Given the description of an element on the screen output the (x, y) to click on. 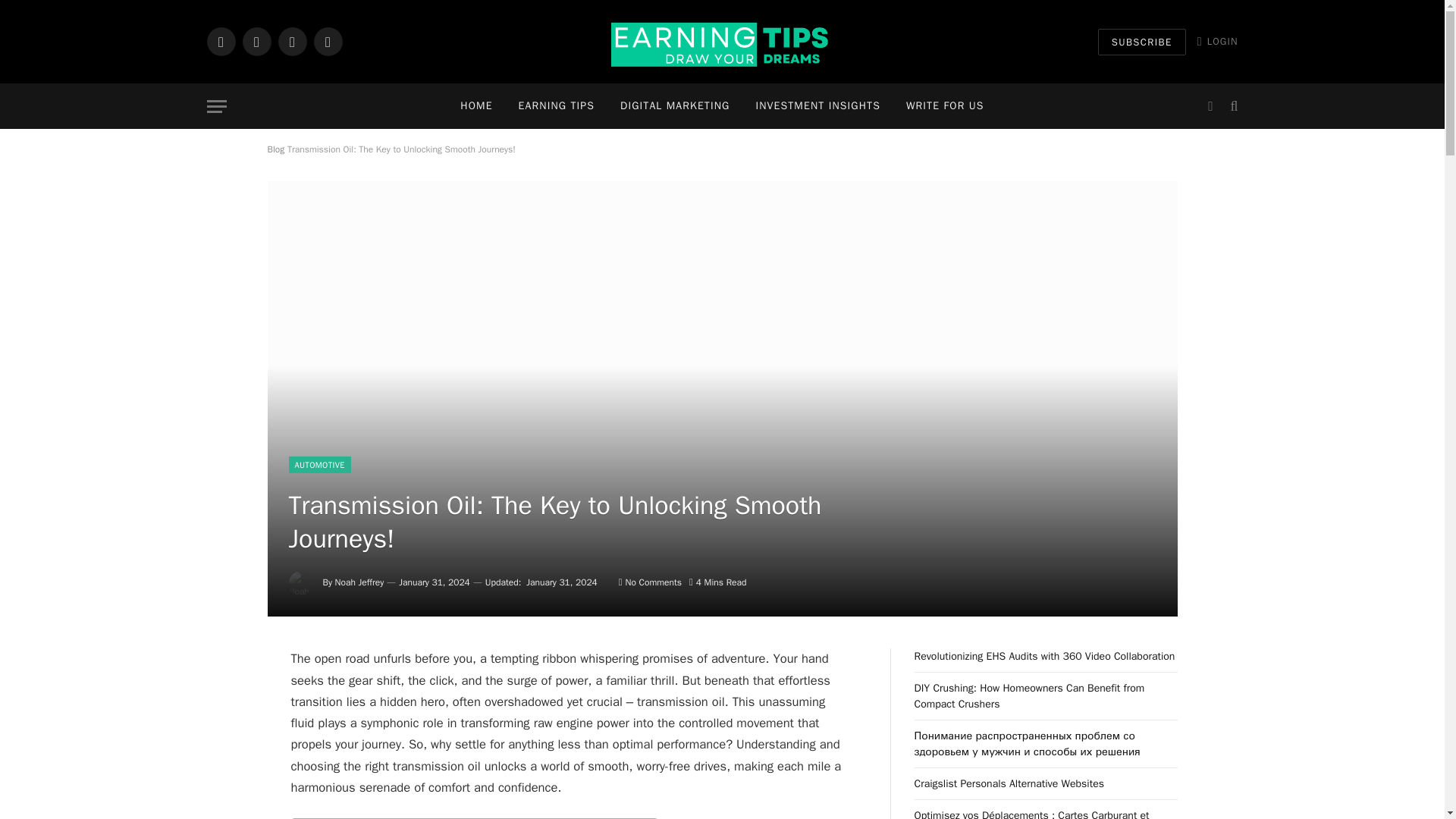
Posts by Noah Jeffrey (359, 582)
Switch to Dark Design - easier on eyes. (1209, 106)
WRITE FOR US (945, 105)
Facebook (220, 41)
LOGIN (1217, 41)
SUBSCRIBE (1141, 41)
DIGITAL MARKETING (674, 105)
EARNING TIPS (556, 105)
Earning Tips (721, 41)
